Given the description of an element on the screen output the (x, y) to click on. 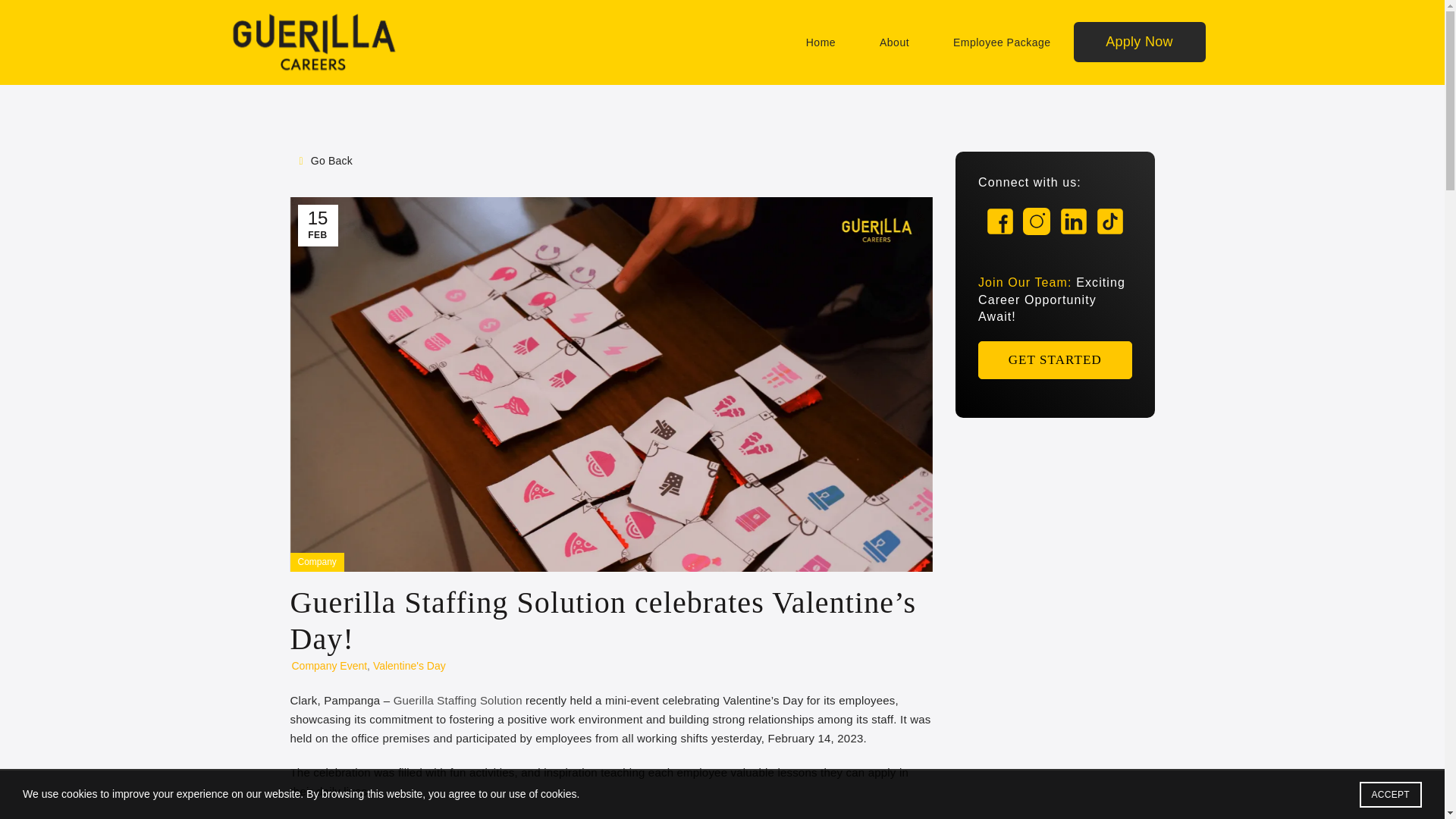
Employee Package (1002, 42)
Guerilla Staffing Solution (457, 699)
Company (316, 561)
Home (820, 42)
Go Back (325, 160)
Valentine's Day (408, 665)
Apply Now (1139, 42)
About (893, 42)
Company Event (328, 665)
